Given the description of an element on the screen output the (x, y) to click on. 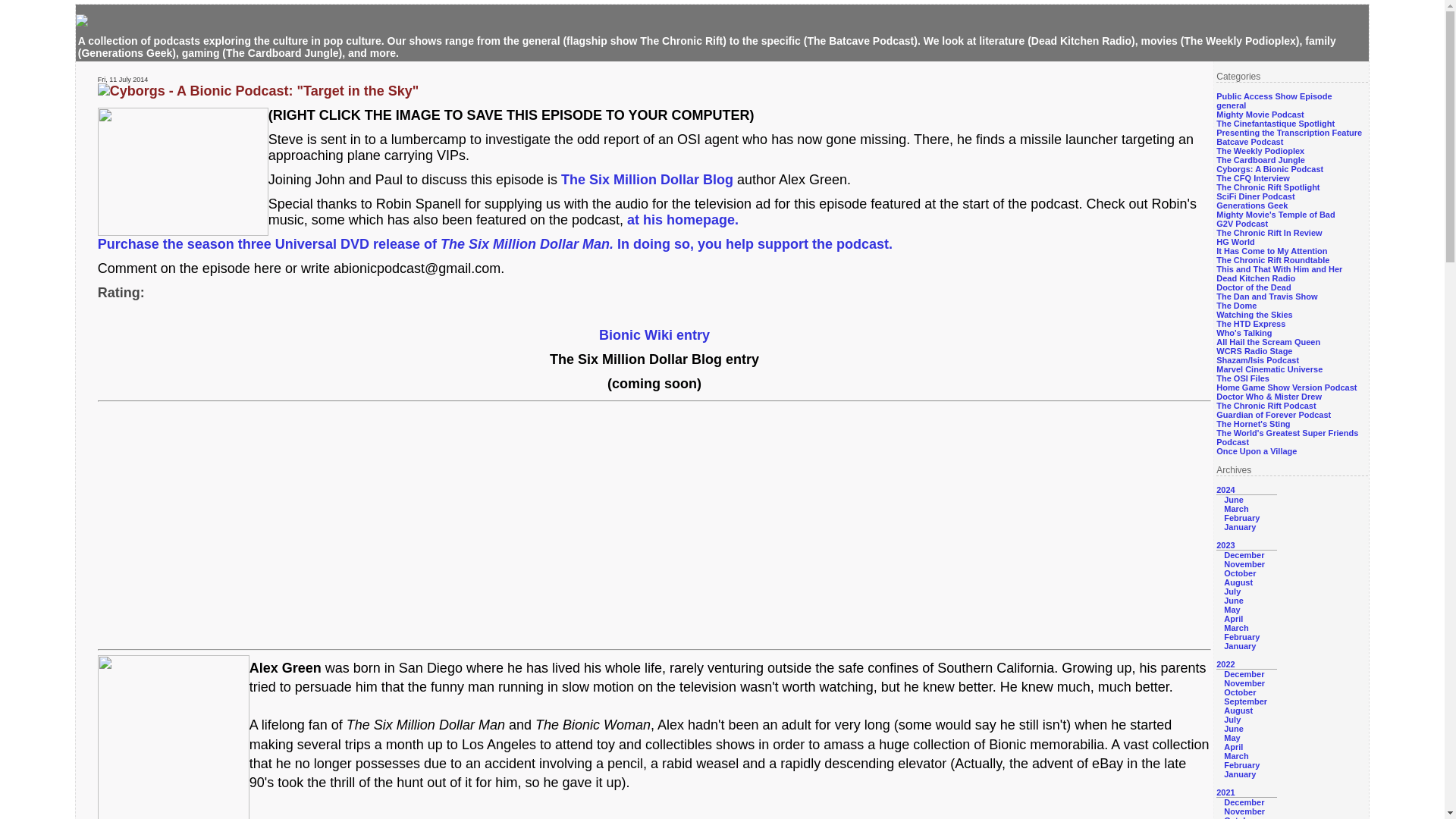
Public Access Show Episode (1273, 95)
G2V Podcast (1241, 223)
Once Upon a Village (1256, 450)
Watching the Skies (1253, 314)
The Chronic Rift Roundtable (1272, 259)
WCRS Radio Stage (1253, 350)
The CFQ Interview (1252, 177)
Mighty Movie's Temple of Bad (1275, 214)
The Cardboard Jungle (1259, 159)
Mighty Movie Podcast (1259, 113)
